Given the description of an element on the screen output the (x, y) to click on. 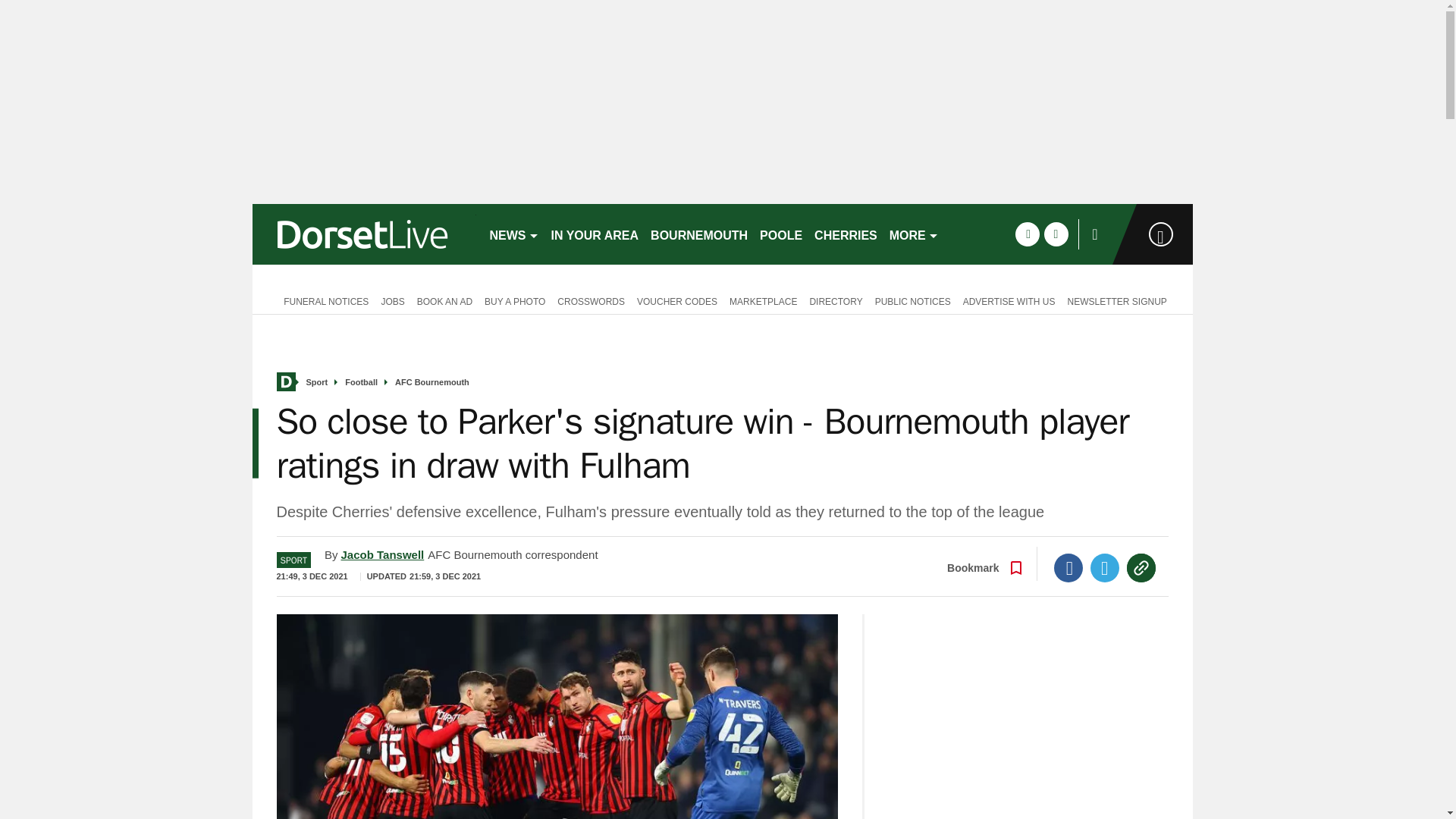
BOURNEMOUTH (699, 233)
twitter (1055, 233)
facebook (1026, 233)
IN YOUR AREA (594, 233)
POOLE (781, 233)
BUY A PHOTO (515, 300)
VOUCHER CODES (676, 300)
JOBS (392, 300)
MARKETPLACE (763, 300)
Facebook (1068, 567)
